Given the description of an element on the screen output the (x, y) to click on. 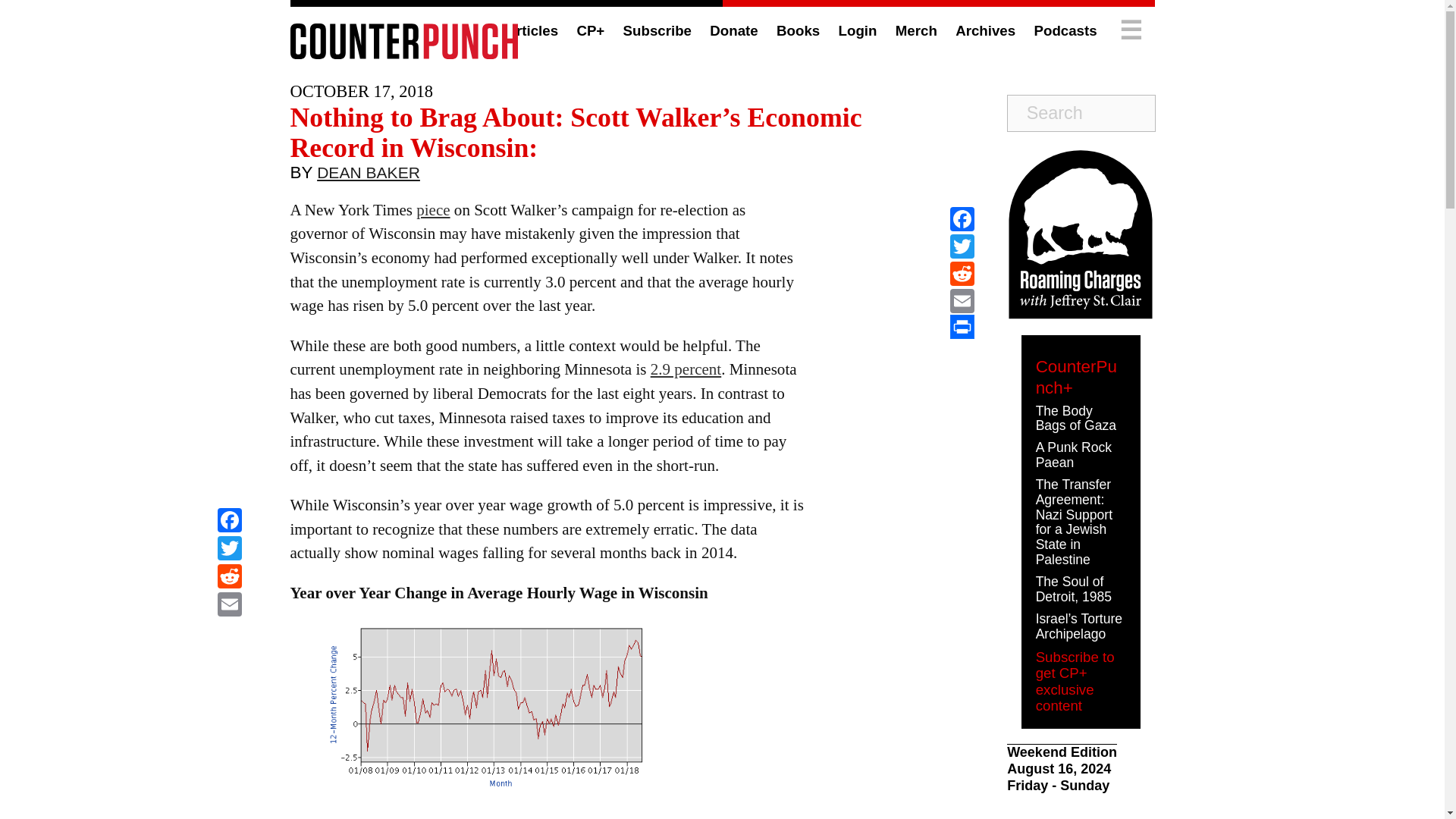
DEAN BAKER (368, 176)
Articles (531, 30)
Twitter (229, 550)
Donate (733, 30)
Reddit (229, 578)
Podcasts (1064, 30)
Subscribe (657, 30)
The Soul of Detroit, 1985 (1073, 589)
Print This Post (962, 326)
Facebook (229, 521)
